Given the description of an element on the screen output the (x, y) to click on. 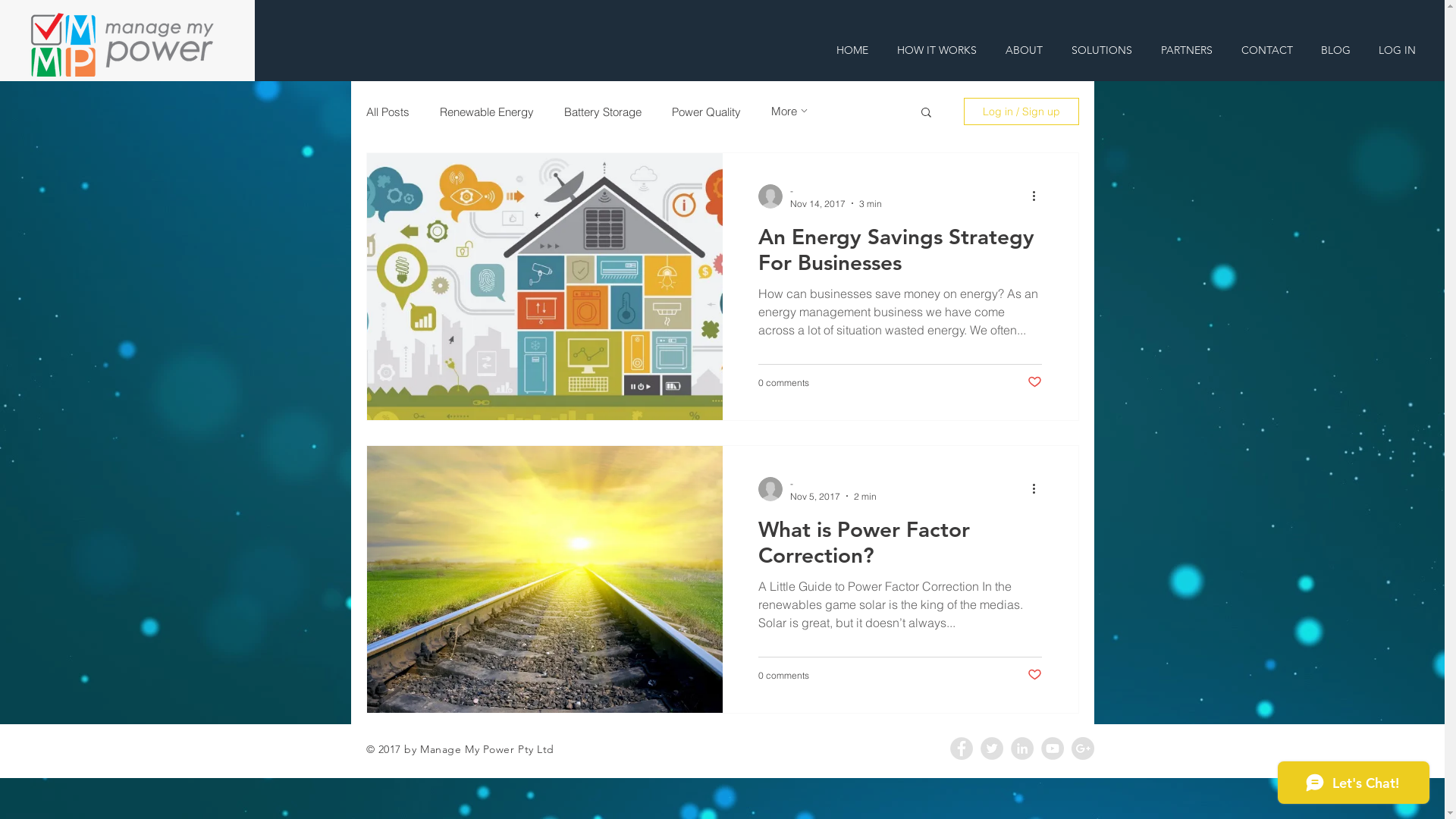
SOLUTIONS Element type: text (1101, 50)
Power Quality Element type: text (705, 111)
0 comments Element type: text (783, 382)
HOME Element type: text (852, 50)
ABOUT Element type: text (1024, 50)
Renewable Energy Element type: text (486, 111)
Log in / Sign up Element type: text (1020, 111)
Post not marked as liked Element type: text (1034, 382)
HOW IT WORKS Element type: text (936, 50)
0 comments Element type: text (783, 674)
LOG IN Element type: text (1396, 50)
BLOG Element type: text (1335, 50)
An Energy Savings Strategy For Businesses Element type: text (899, 253)
CONTACT Element type: text (1266, 50)
Battery Storage Element type: text (602, 111)
PARTNERS Element type: text (1186, 50)
What is Power Factor Correction? Element type: text (899, 546)
Post not marked as liked Element type: text (1034, 675)
All Posts Element type: text (386, 111)
